Given the description of an element on the screen output the (x, y) to click on. 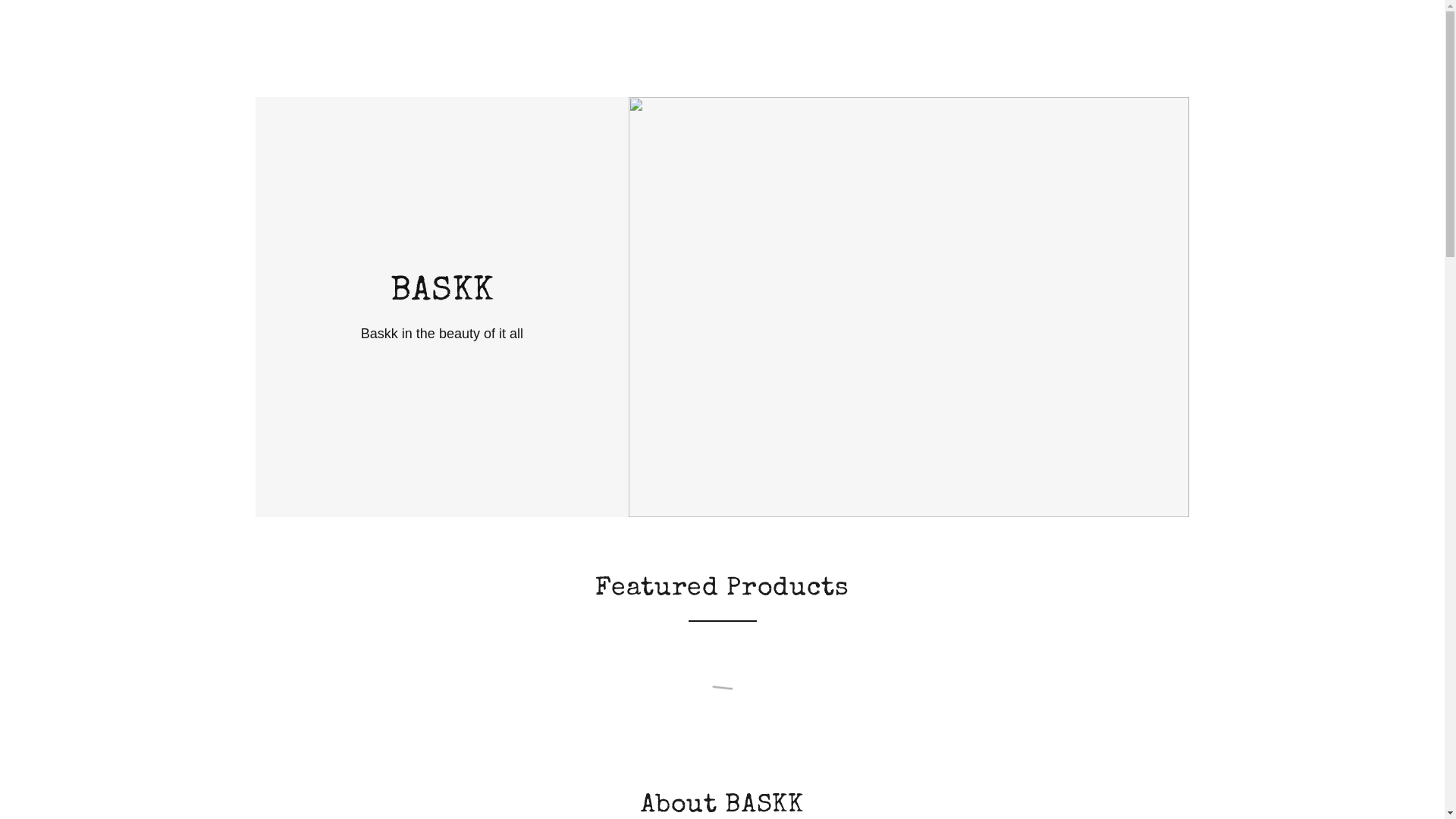
BASKK Element type: text (441, 294)
